Given the description of an element on the screen output the (x, y) to click on. 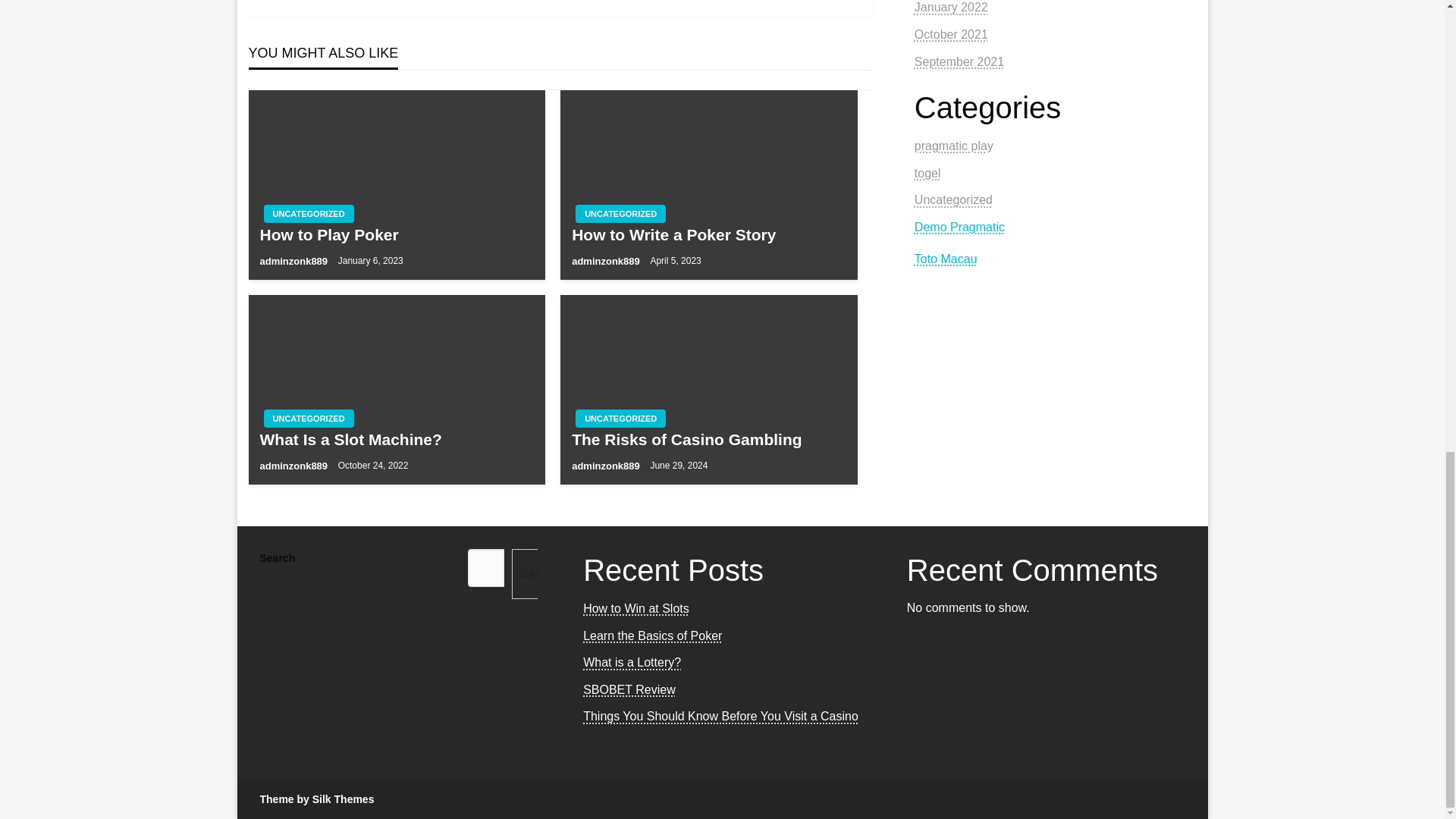
How to Write a Poker Story (708, 234)
UNCATEGORIZED (620, 213)
How to Play Poker (396, 234)
UNCATEGORIZED (308, 418)
adminzonk889 (294, 465)
What Is a Slot Machine? (396, 439)
The Risks of Casino Gambling (708, 439)
adminzonk889 (607, 465)
adminzonk889 (294, 260)
UNCATEGORIZED (620, 418)
